Given the description of an element on the screen output the (x, y) to click on. 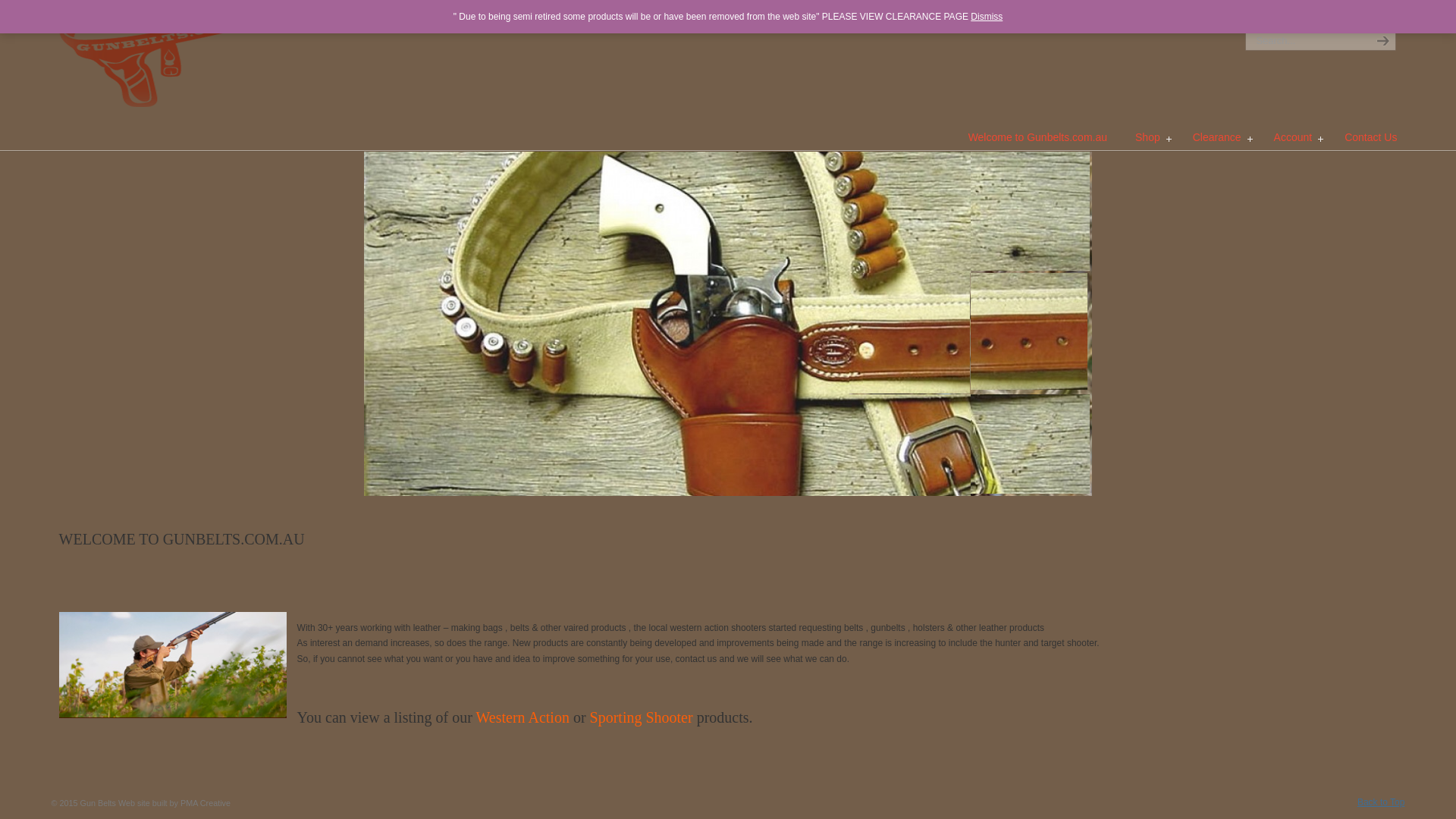
Western Action Element type: text (522, 717)
Sporting Shooter Element type: text (641, 717)
Clearance Element type: text (1219, 137)
Gunbelts.com.au Element type: text (172, 55)
Dismiss Element type: text (986, 16)
Account Element type: text (1295, 137)
Contact Us Element type: text (1370, 137)
Back to Top Element type: text (1380, 801)
Welcome to Gunbelts.com.au Element type: text (1037, 137)
Shop Element type: text (1149, 137)
